Given the description of an element on the screen output the (x, y) to click on. 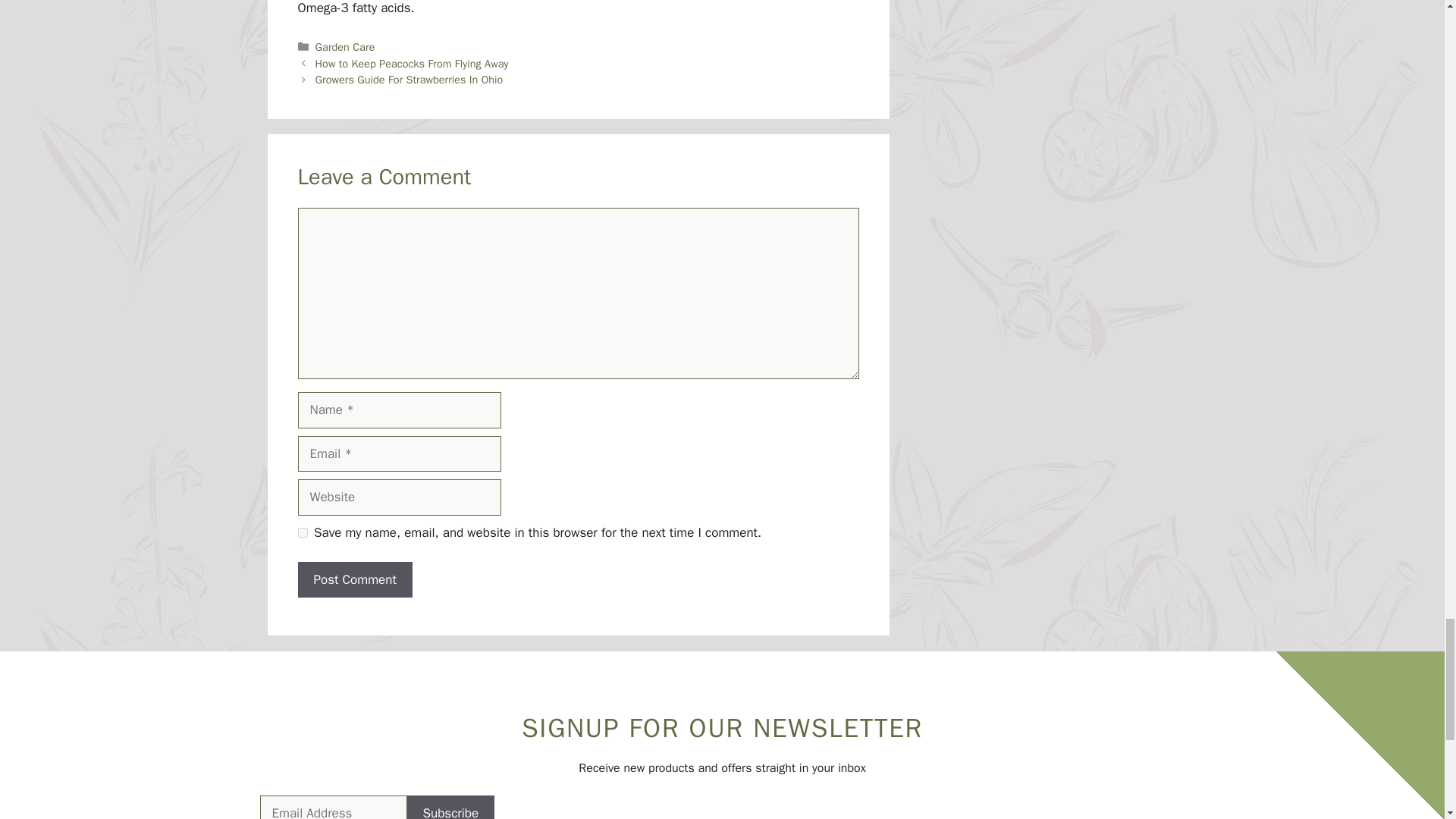
Subscribe (450, 807)
Post Comment (354, 579)
How to Keep Peacocks From Flying Away (411, 63)
Garden Care (345, 47)
yes (302, 532)
Subscribe (450, 807)
Growers Guide For Strawberries In Ohio (409, 79)
Post Comment (354, 579)
